Given the description of an element on the screen output the (x, y) to click on. 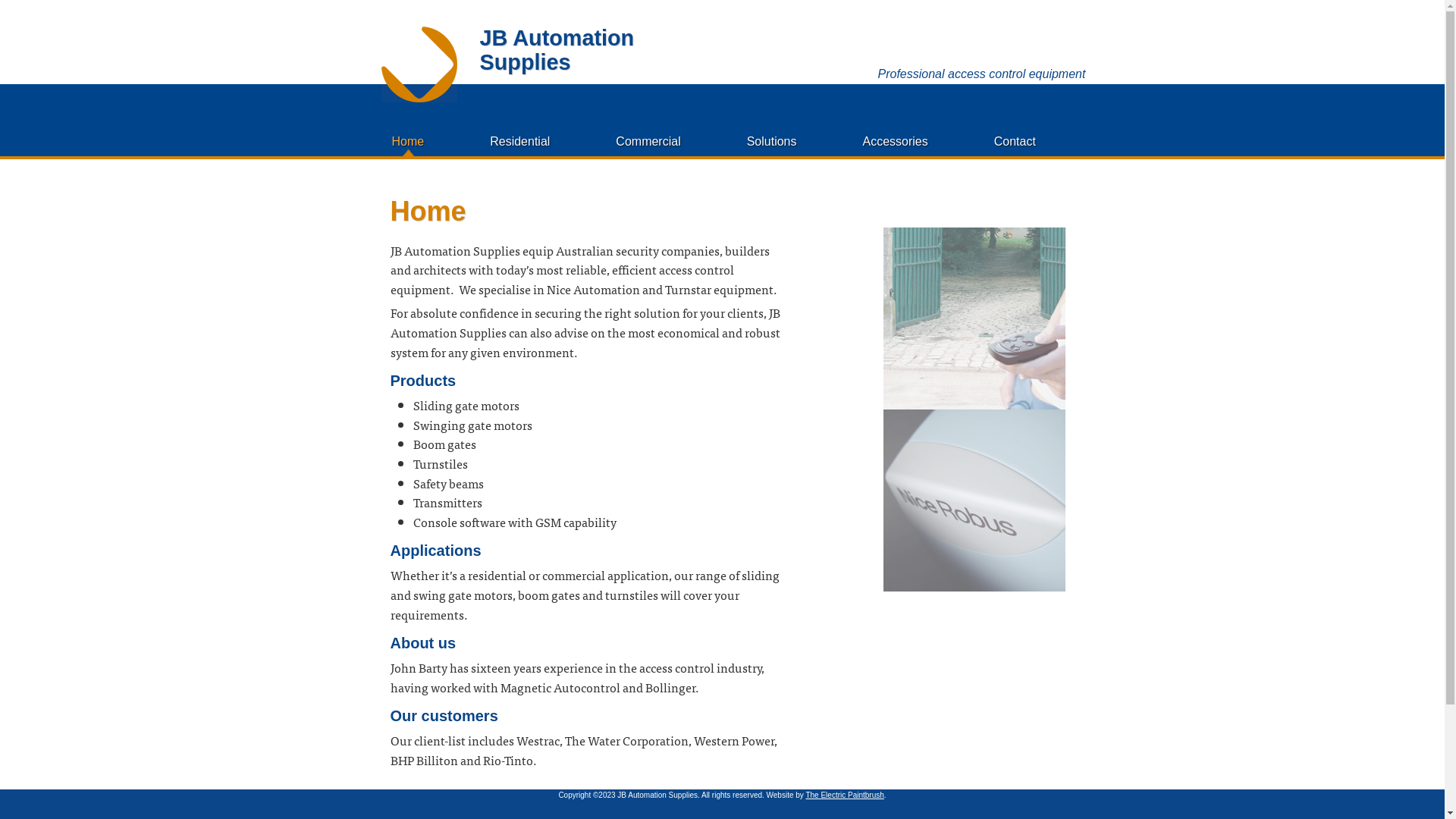
Accessories Element type: text (895, 141)
The Electric Paintbrush Element type: text (844, 794)
JB Automation Supplies Element type: text (556, 49)
Commercial Element type: text (647, 141)
Contact Element type: text (1014, 141)
Home Element type: text (407, 141)
Residential Element type: text (519, 141)
Solutions Element type: text (771, 141)
